Given the description of an element on the screen output the (x, y) to click on. 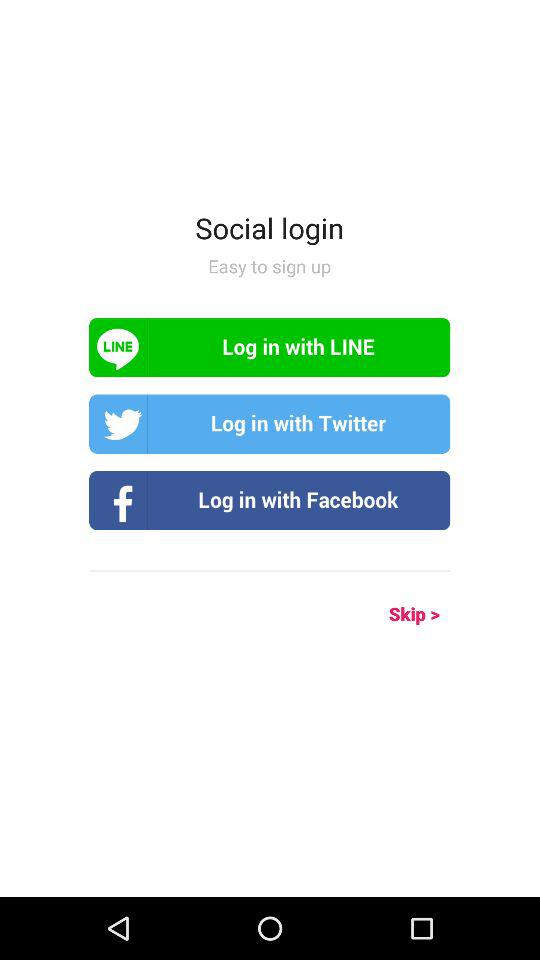
log in with twitter (269, 423)
